Given the description of an element on the screen output the (x, y) to click on. 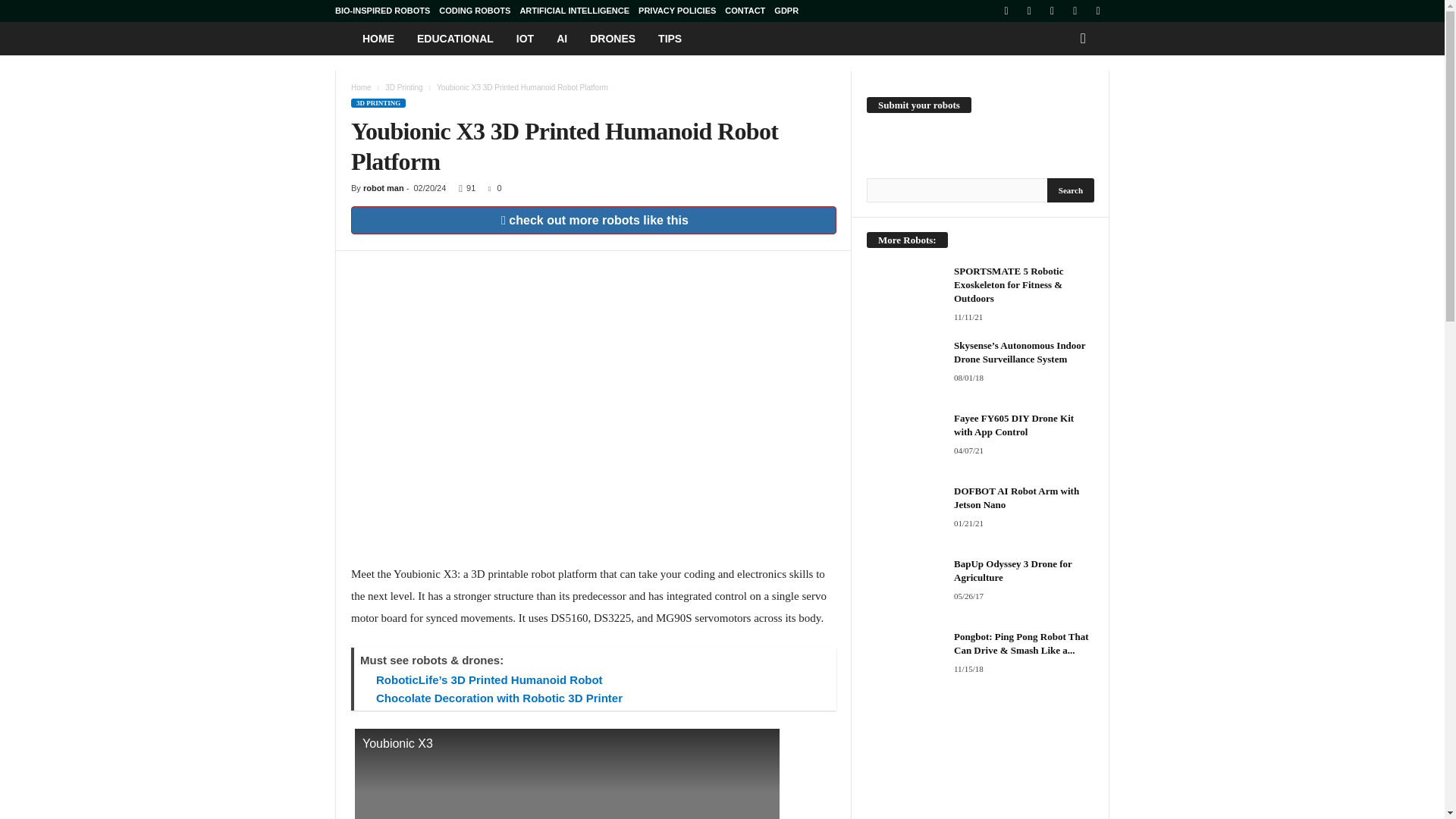
BIO-INSPIRED ROBOTS (381, 10)
PRIVACY POLICIES (677, 10)
Search (1070, 190)
Robotic Gizmos (342, 38)
CONTACT (745, 10)
ARTIFICIAL INTELLIGENCE (573, 10)
HOME (378, 38)
CODING ROBOTS (475, 10)
GDPR (785, 10)
